Given the description of an element on the screen output the (x, y) to click on. 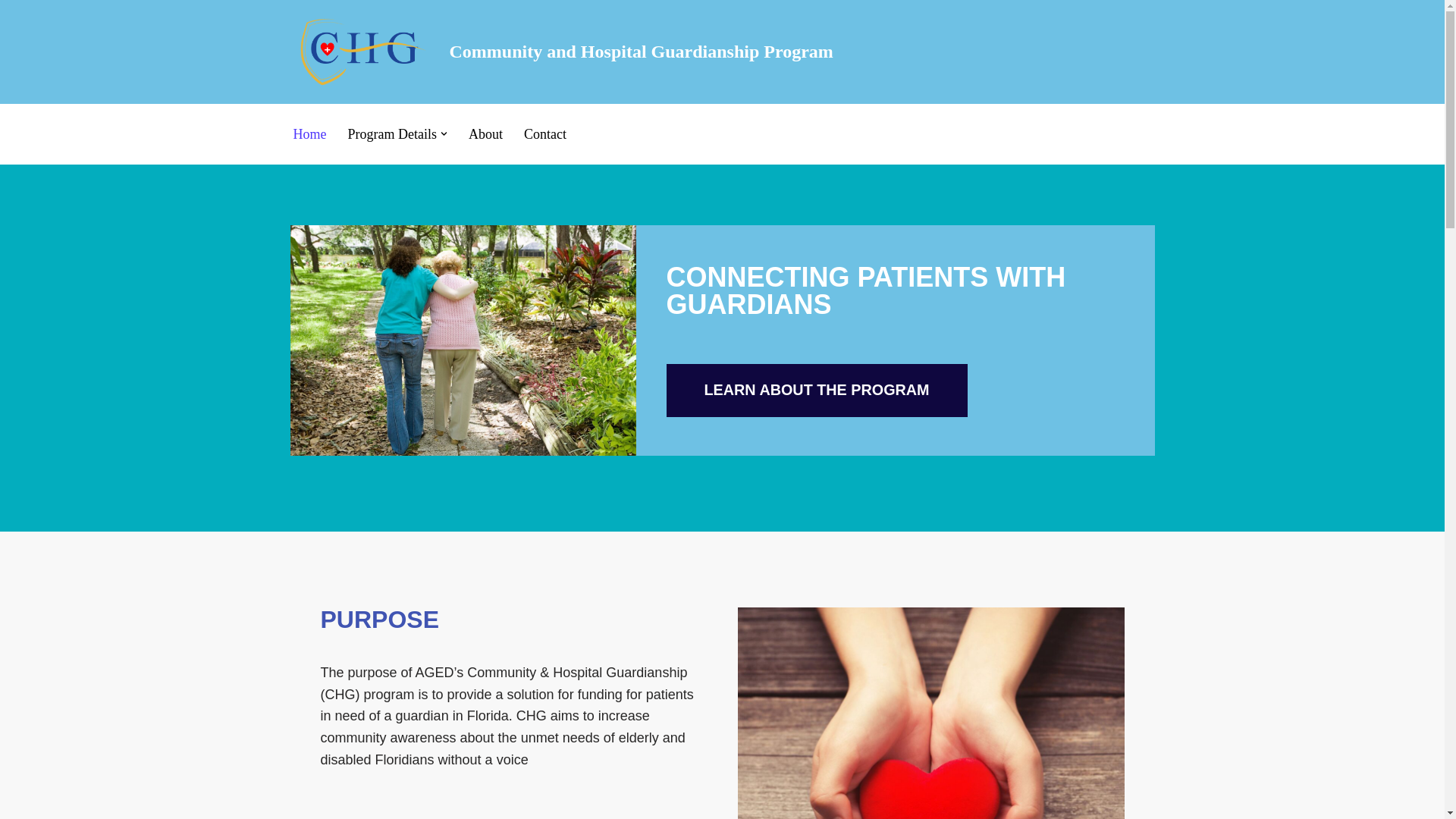
Home (309, 133)
LEARN ABOUT THE PROGRAM (815, 389)
Community and Hospital Guardianship Program (560, 51)
Program Details (391, 133)
Skip to content (11, 31)
About (485, 133)
Contact (545, 133)
